Given the description of an element on the screen output the (x, y) to click on. 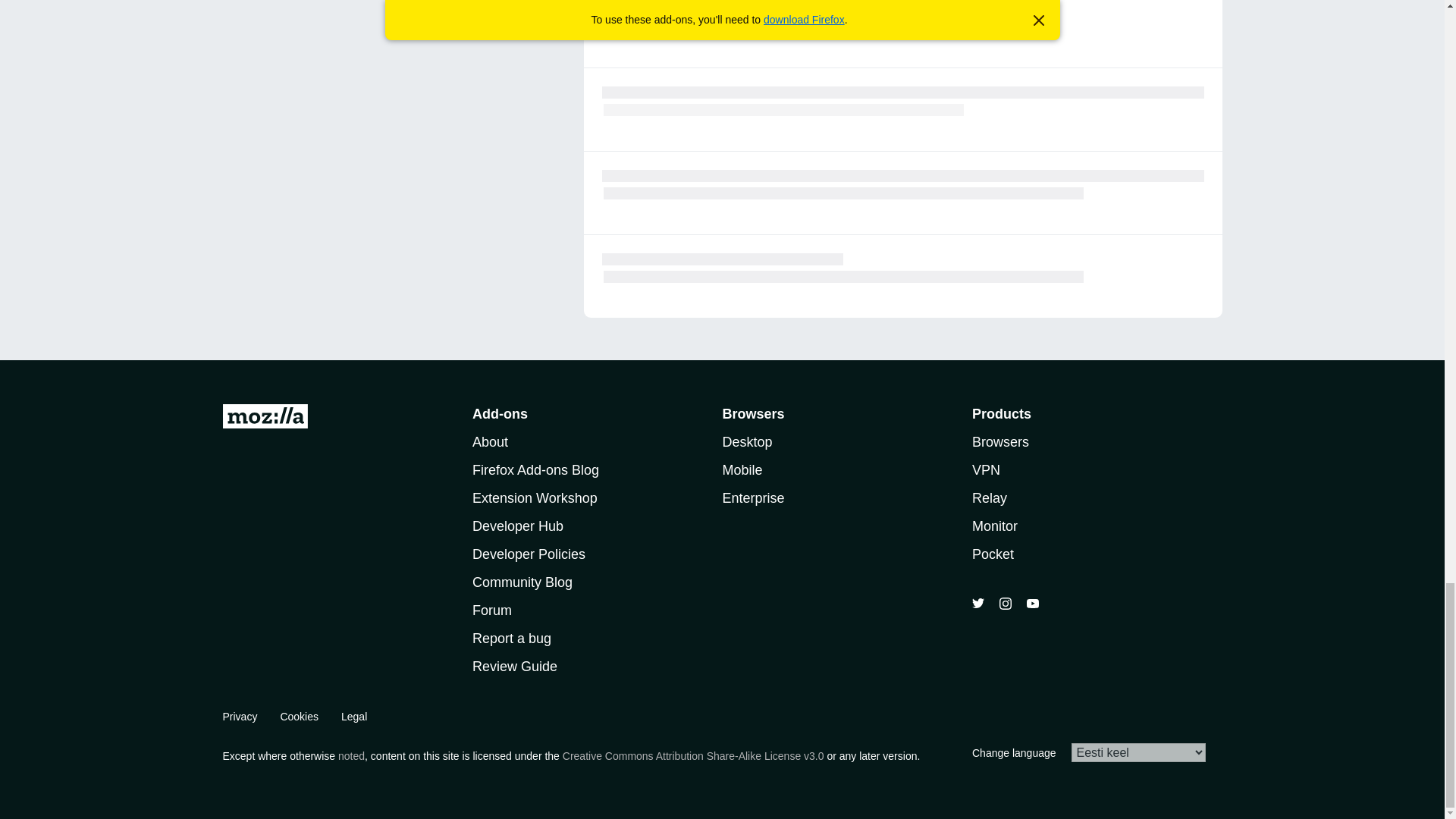
Relay (989, 498)
Add-ons (499, 413)
Browsers (1000, 441)
Monitor (994, 525)
Developer Policies (528, 554)
Pocket (992, 554)
Report a bug (511, 638)
Desktop (746, 441)
Forum (491, 610)
Go to Mozilla's homepage (264, 419)
Enterprise (753, 498)
About (489, 441)
Mobile (741, 469)
Community Blog (521, 581)
Developer Hub (517, 525)
